Given the description of an element on the screen output the (x, y) to click on. 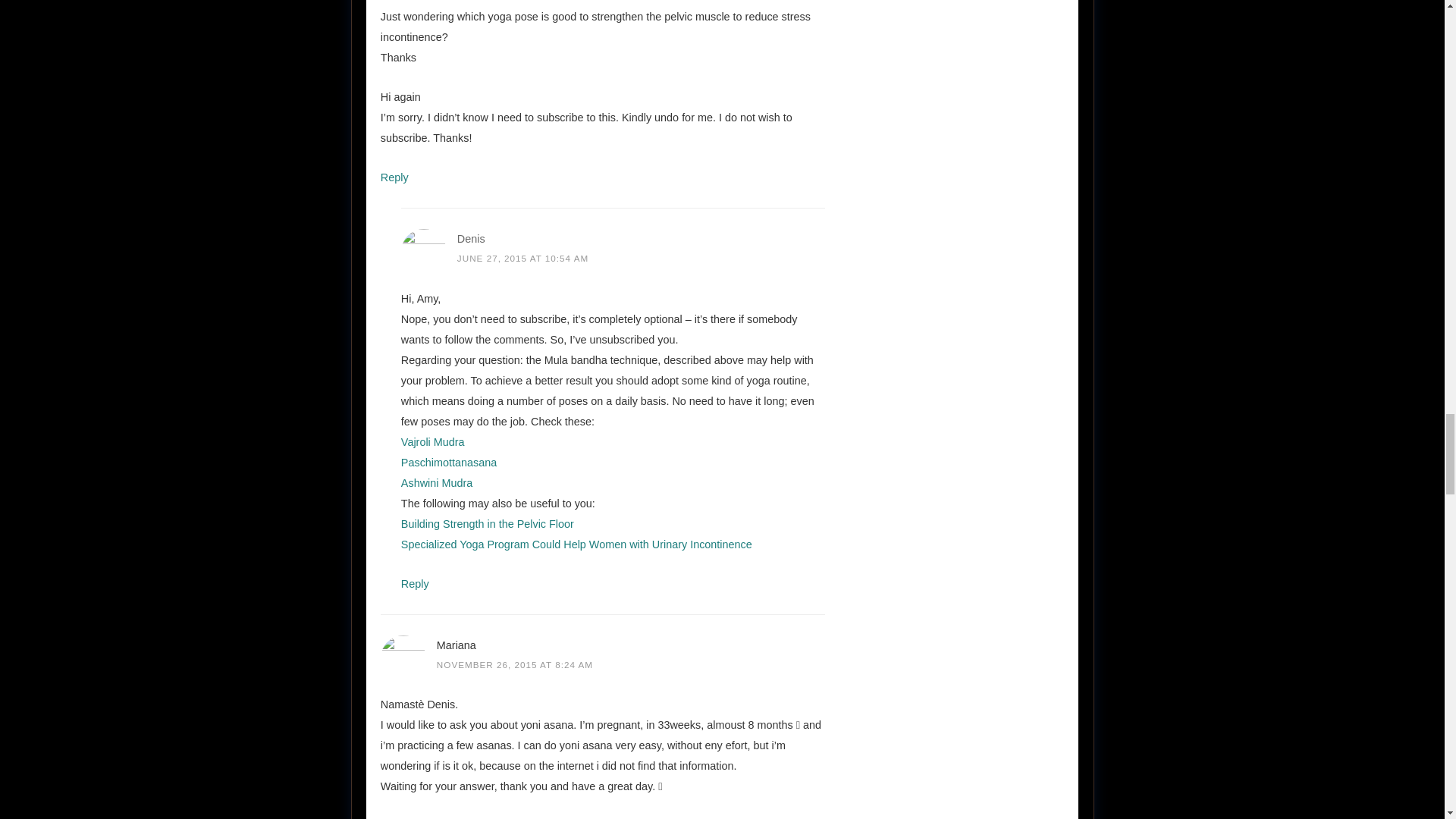
Denis (470, 238)
Ashwini Mudra (436, 482)
Paschimottanasana (448, 462)
Building Strength in the Pelvic Floor (487, 523)
Reply (394, 177)
Vajroli Mudra (432, 441)
JUNE 27, 2015 AT 10:54 AM (522, 257)
